Given the description of an element on the screen output the (x, y) to click on. 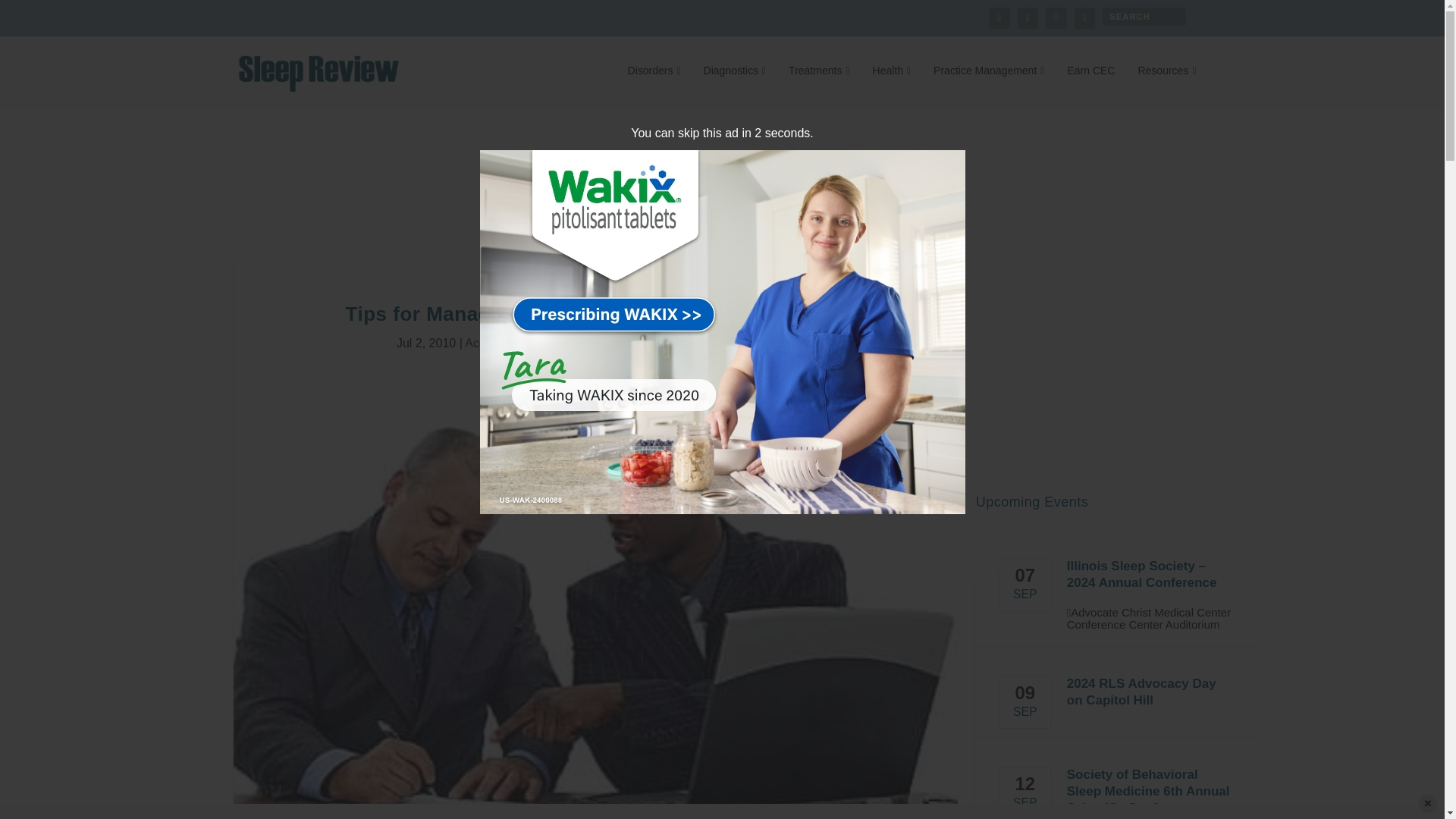
Diagnostics (735, 86)
Disorders (654, 86)
Earn CEC (1091, 86)
Search for: (1144, 16)
Resources (1166, 86)
Rating: 0.00 (768, 343)
Treatments (818, 86)
Practice Management (988, 86)
3rd party ad content (721, 174)
